Given the description of an element on the screen output the (x, y) to click on. 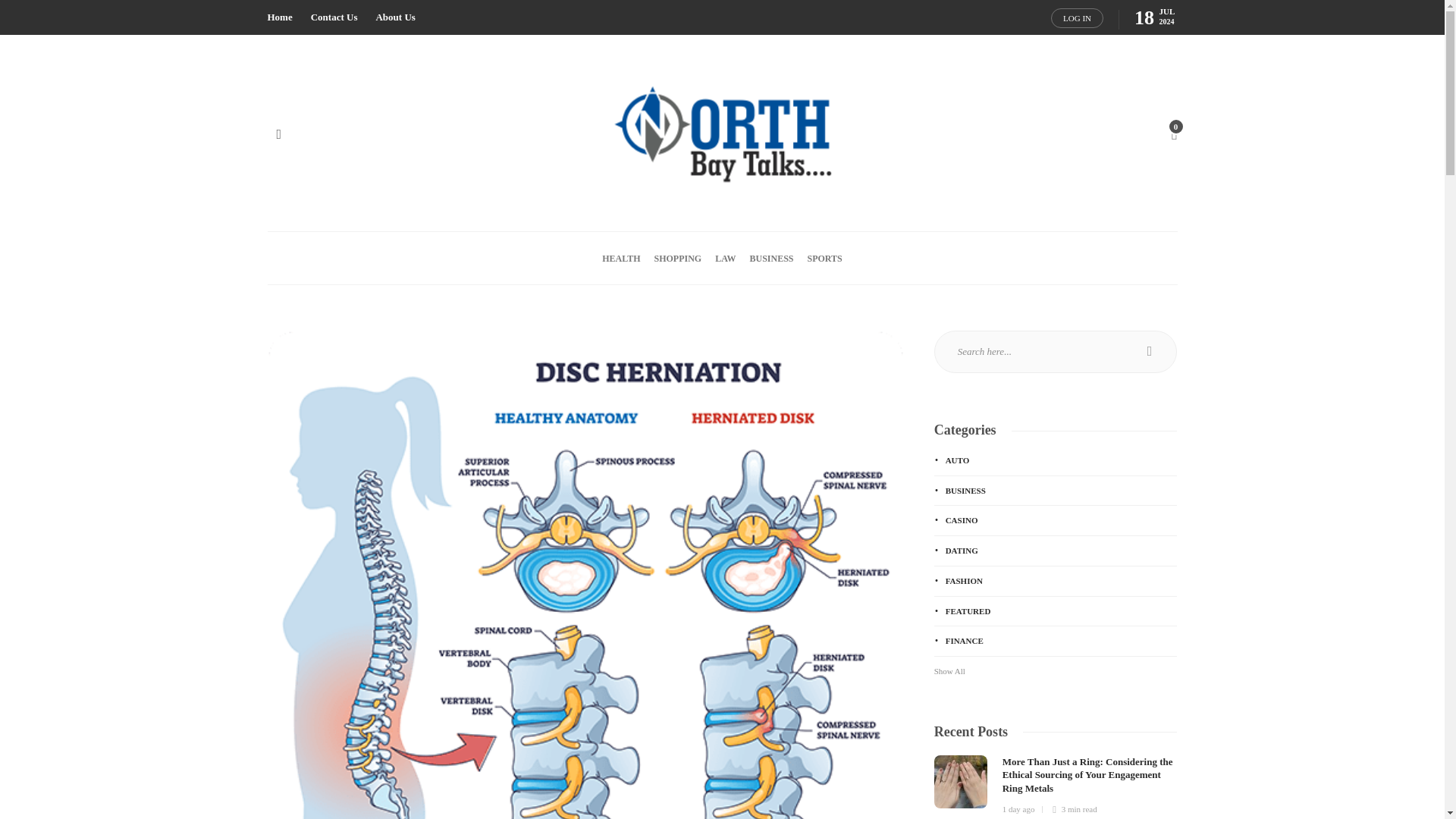
LOG IN (1077, 17)
Contact Us (334, 17)
Search text (1055, 351)
SHOPPING (677, 258)
About Us (394, 17)
